Given the description of an element on the screen output the (x, y) to click on. 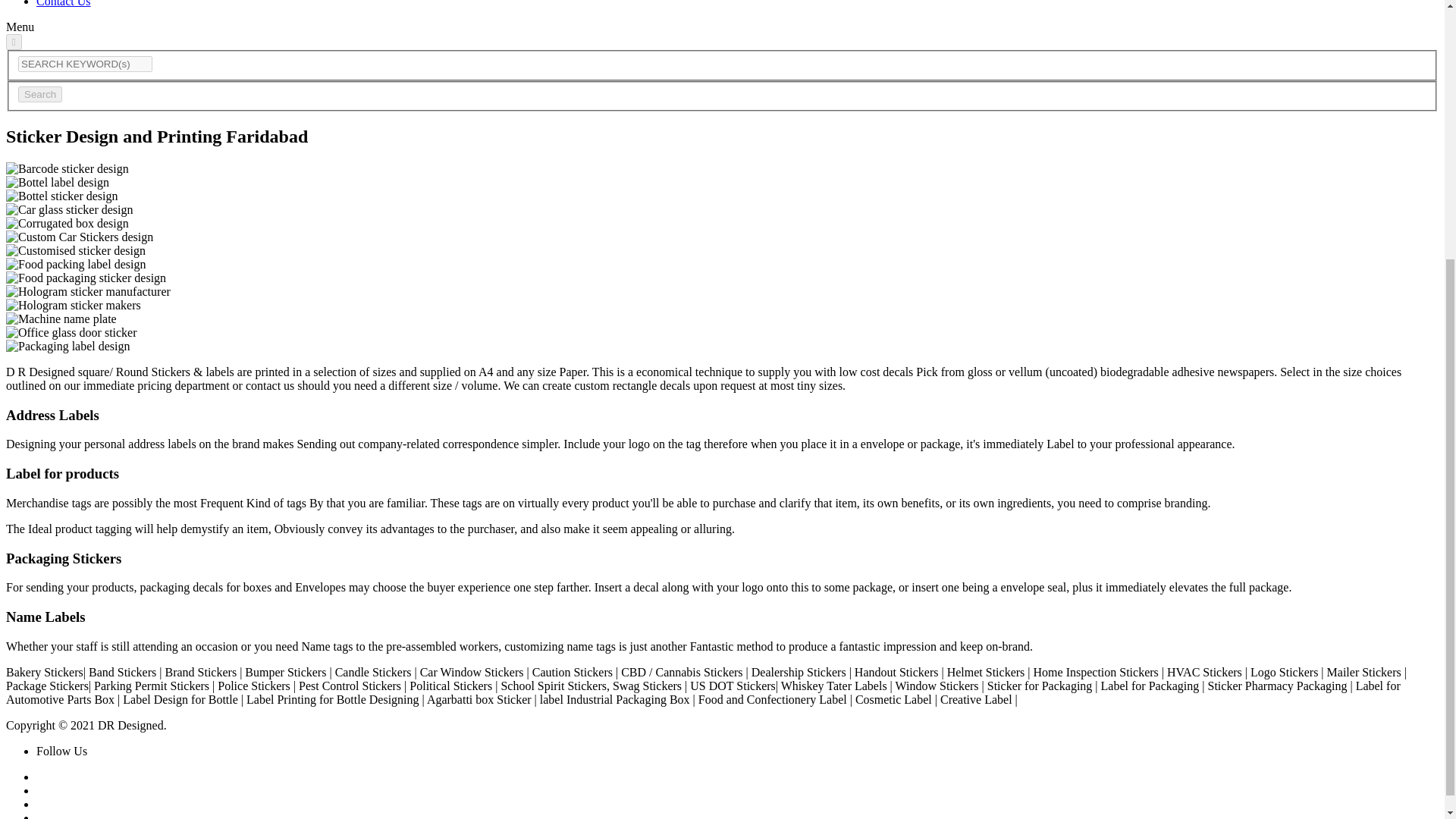
Packaging label design (68, 345)
Menu (19, 26)
Hologram sticker makers (73, 305)
Search (39, 94)
Custom Car Stickers design (78, 237)
Bottel label design (57, 182)
Corrugated box design (67, 223)
Office glass door sticker (70, 332)
Food packing label design (75, 264)
Barcode sticker design (67, 169)
